Given the description of an element on the screen output the (x, y) to click on. 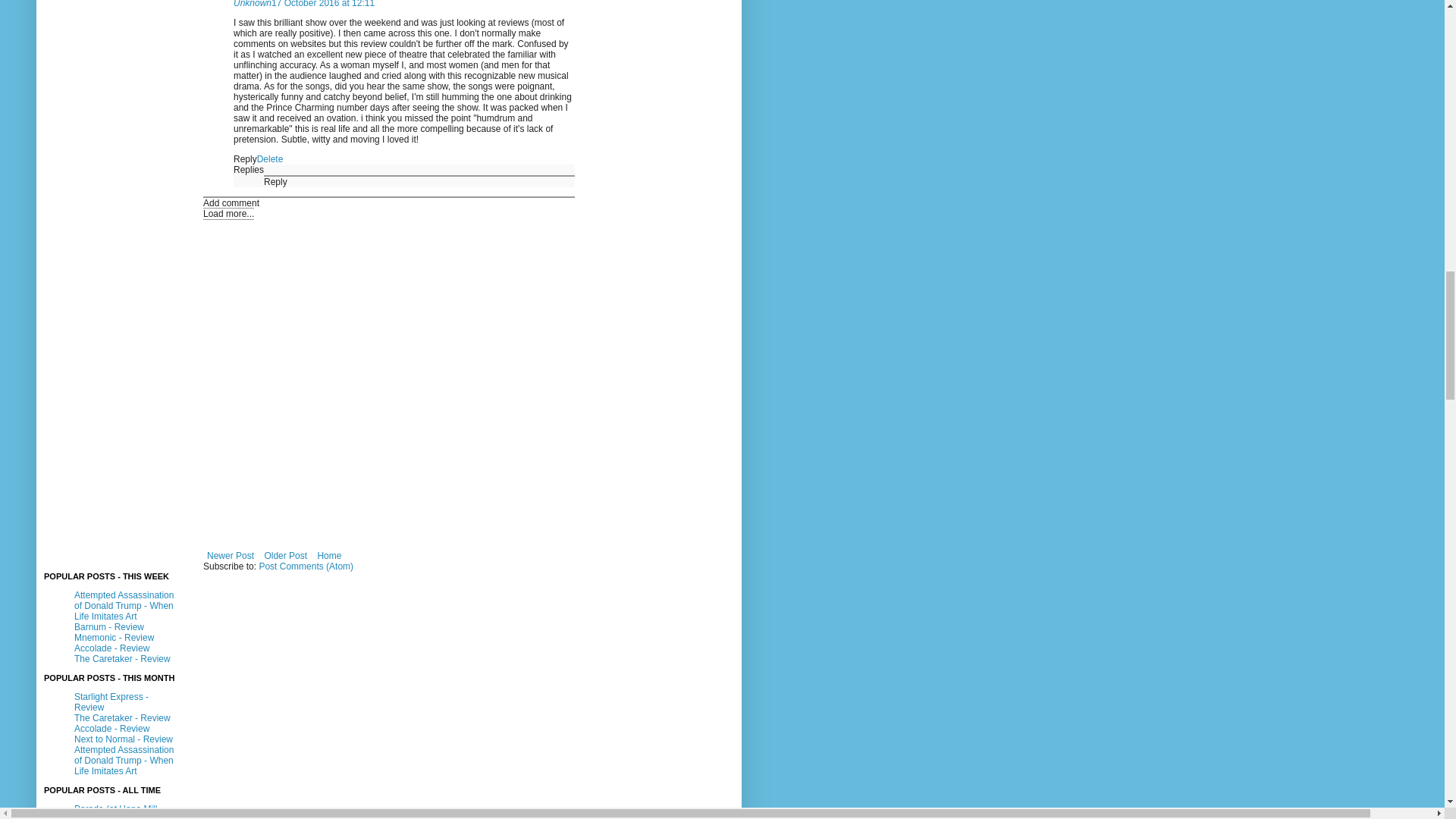
Delete (270, 158)
Newer Post (230, 556)
Reply (274, 181)
Reply (244, 158)
Older Post (285, 556)
Unknown (251, 4)
Load more... (228, 214)
Add comment (231, 203)
Replies (247, 169)
Newer Post (230, 556)
17 October 2016 at 12:11 (322, 4)
